Given the description of an element on the screen output the (x, y) to click on. 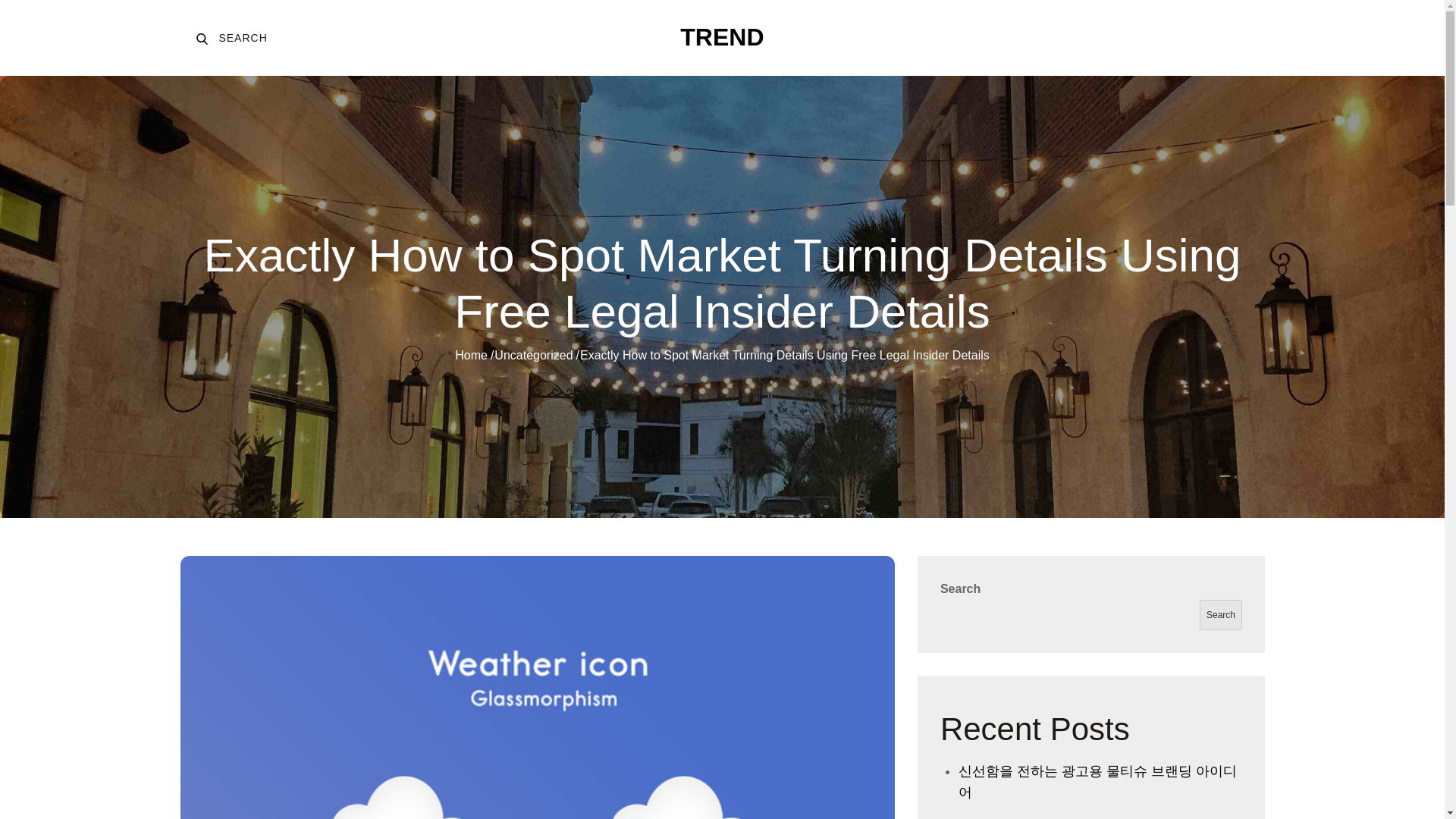
Search (1220, 614)
Home (470, 354)
Uncategorized (533, 354)
TREND (228, 37)
